Given the description of an element on the screen output the (x, y) to click on. 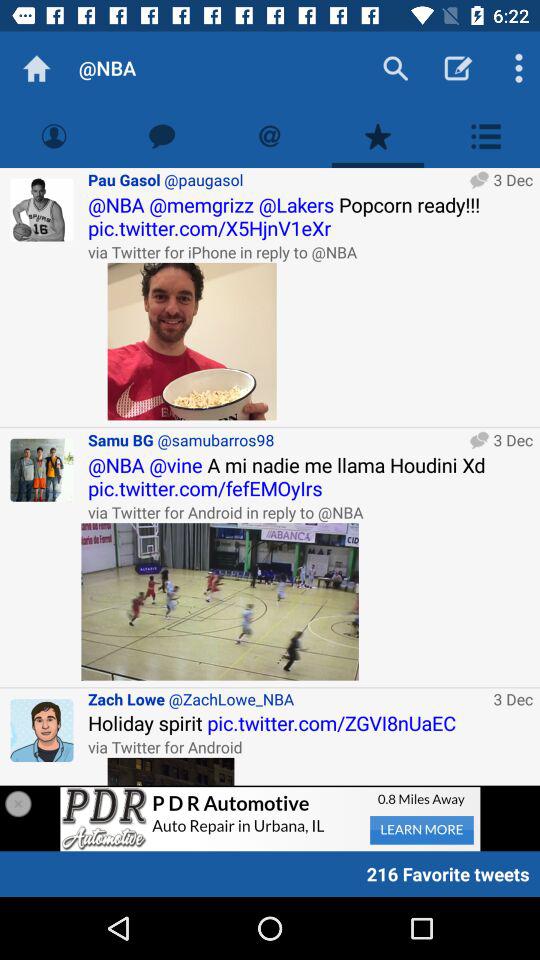
open the picture in question (192, 341)
